Given the description of an element on the screen output the (x, y) to click on. 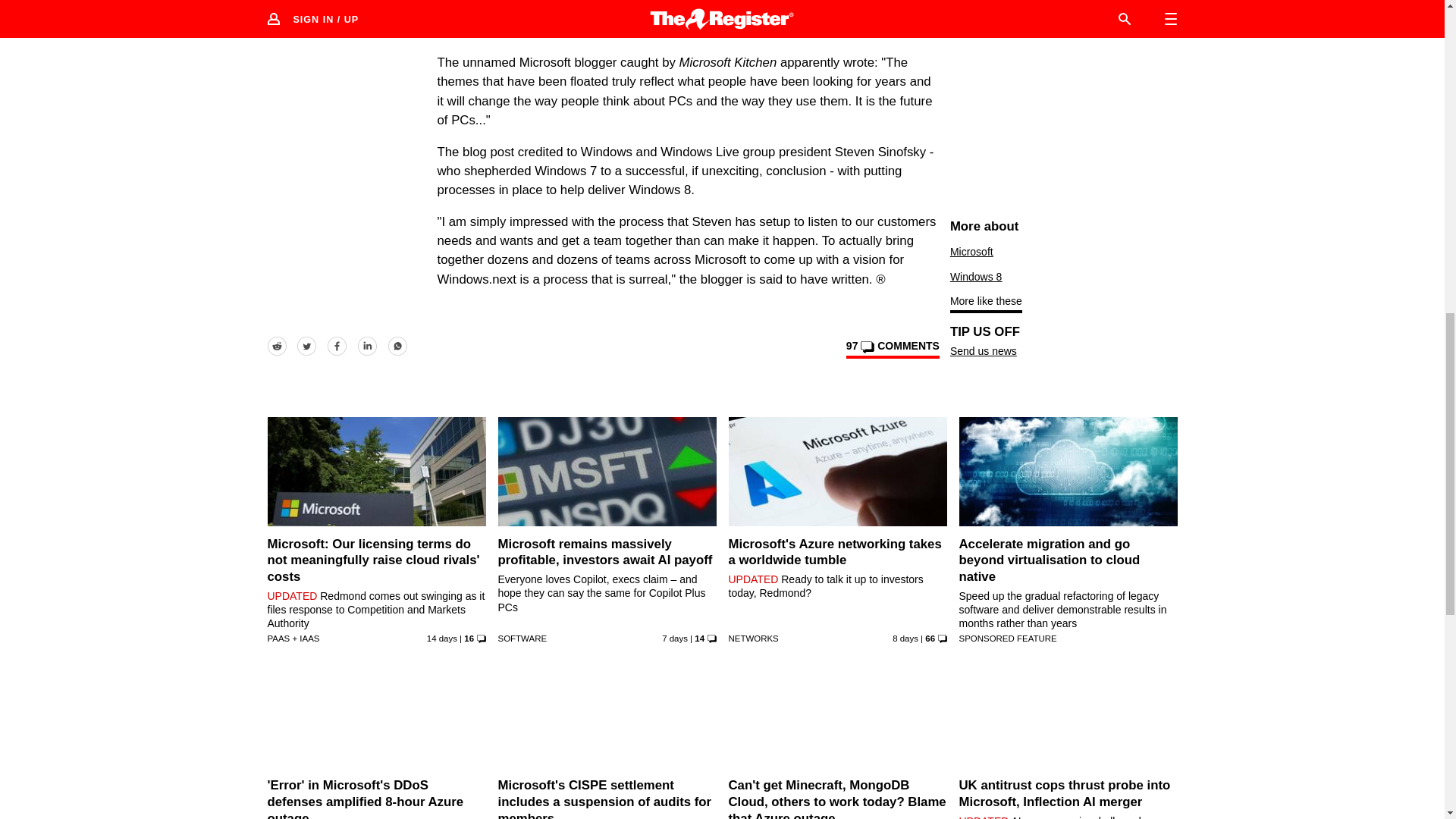
24 Jul 2024 11:34 (441, 637)
View comments on this article (892, 348)
30 Jul 2024 14:6 (905, 637)
31 Jul 2024 5:38 (674, 637)
